Given the description of an element on the screen output the (x, y) to click on. 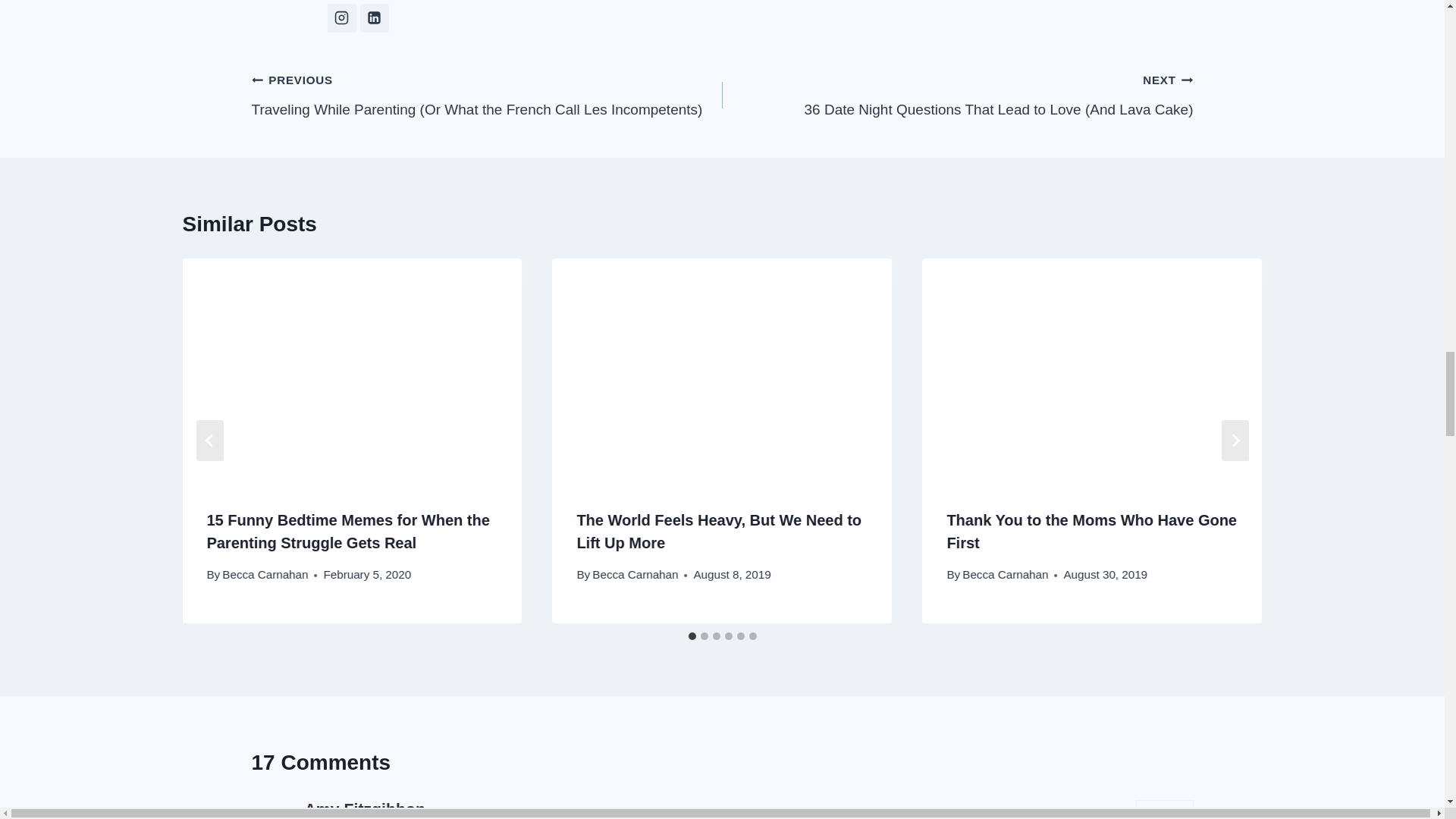
Follow Becca Carnahan on Instagram (341, 18)
Follow Becca Carnahan on Linkedin (373, 18)
